Given the description of an element on the screen output the (x, y) to click on. 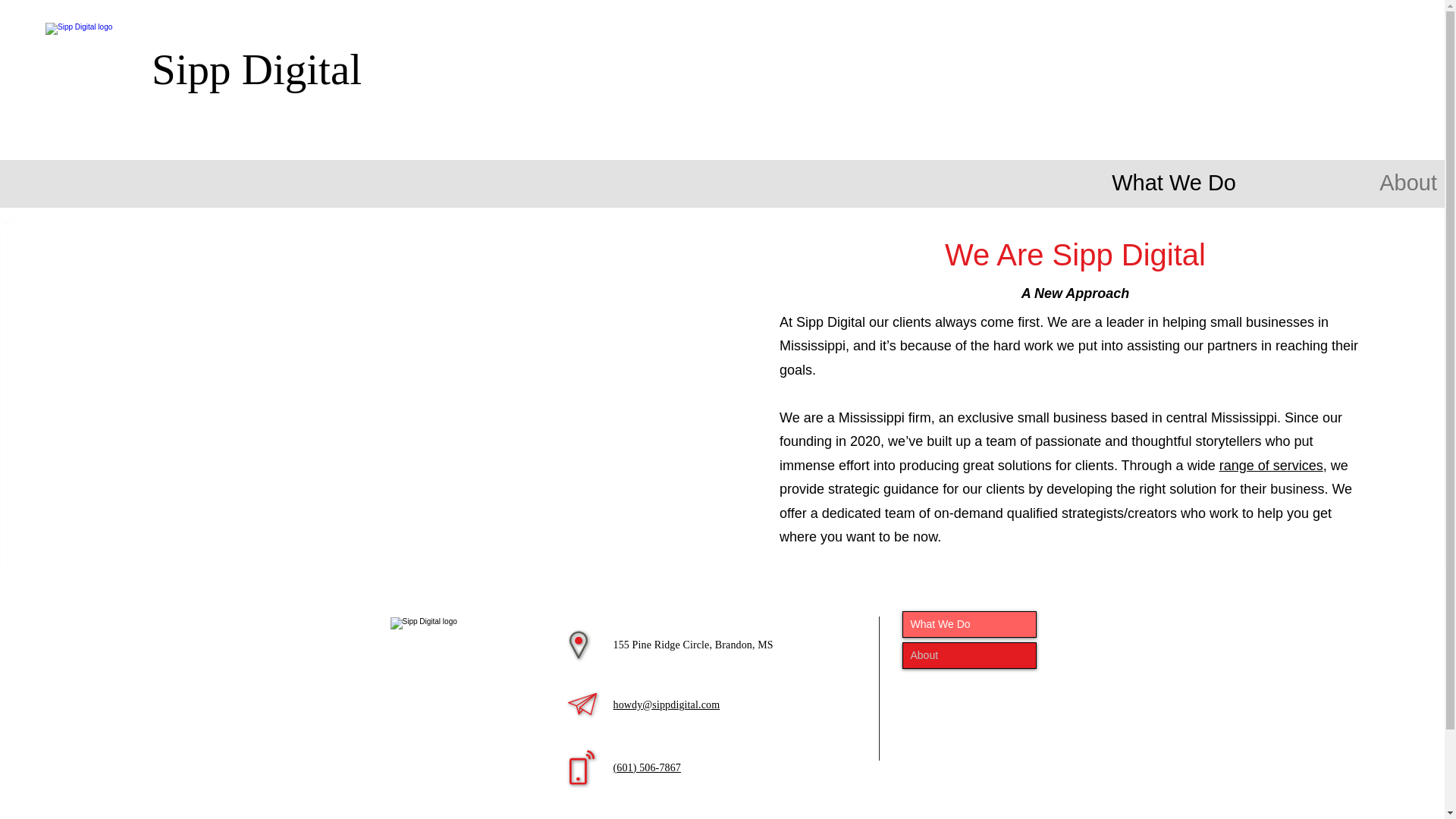
What We Do (1109, 174)
range of services (1271, 465)
About (968, 655)
What We Do (968, 623)
